Given the description of an element on the screen output the (x, y) to click on. 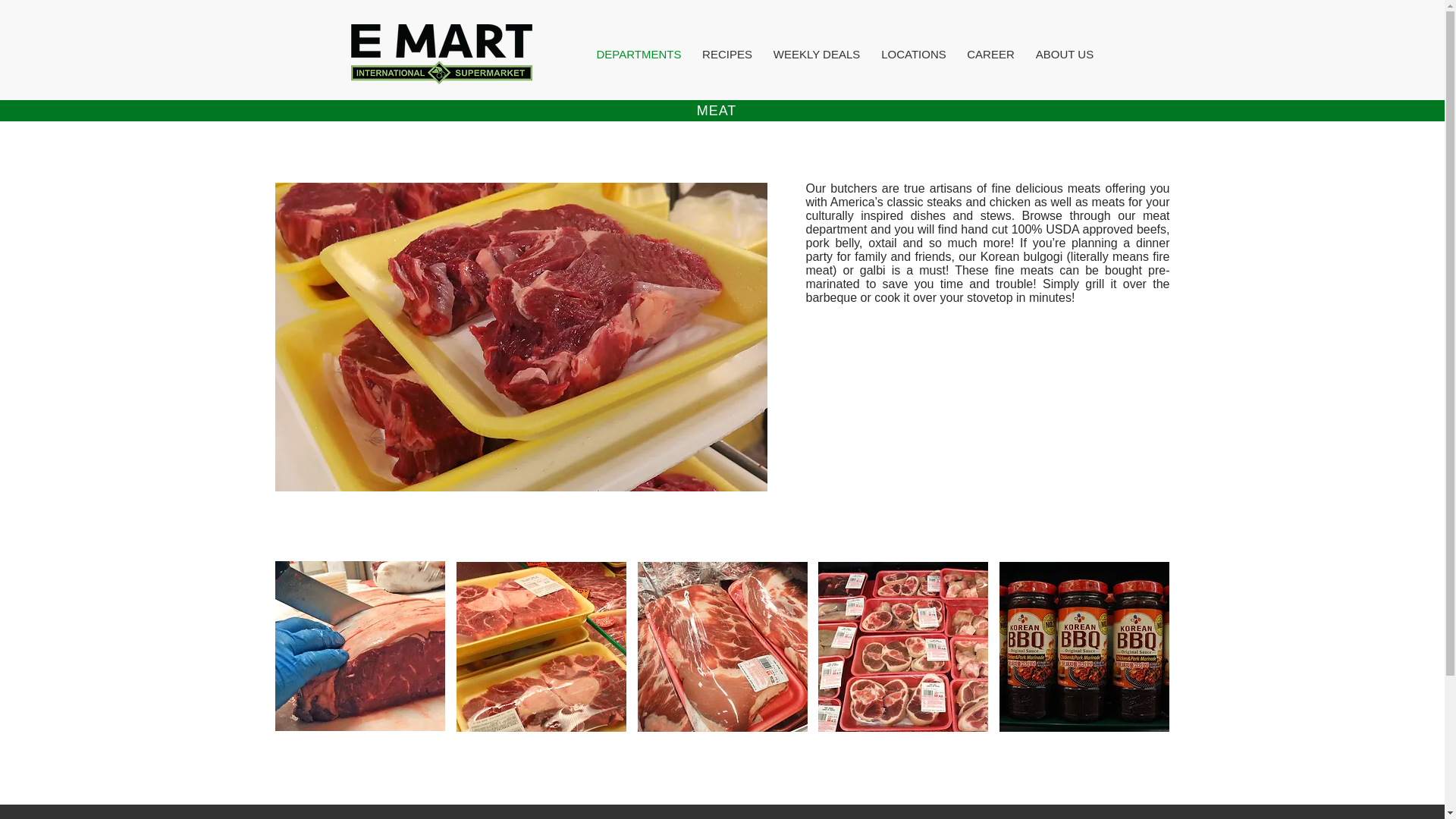
DEPARTMENTS (638, 53)
ABOUT US (1065, 53)
WEEKLY DEALS (816, 53)
RECIPES (726, 53)
LOCATIONS (913, 53)
CAREER (990, 53)
